Given the description of an element on the screen output the (x, y) to click on. 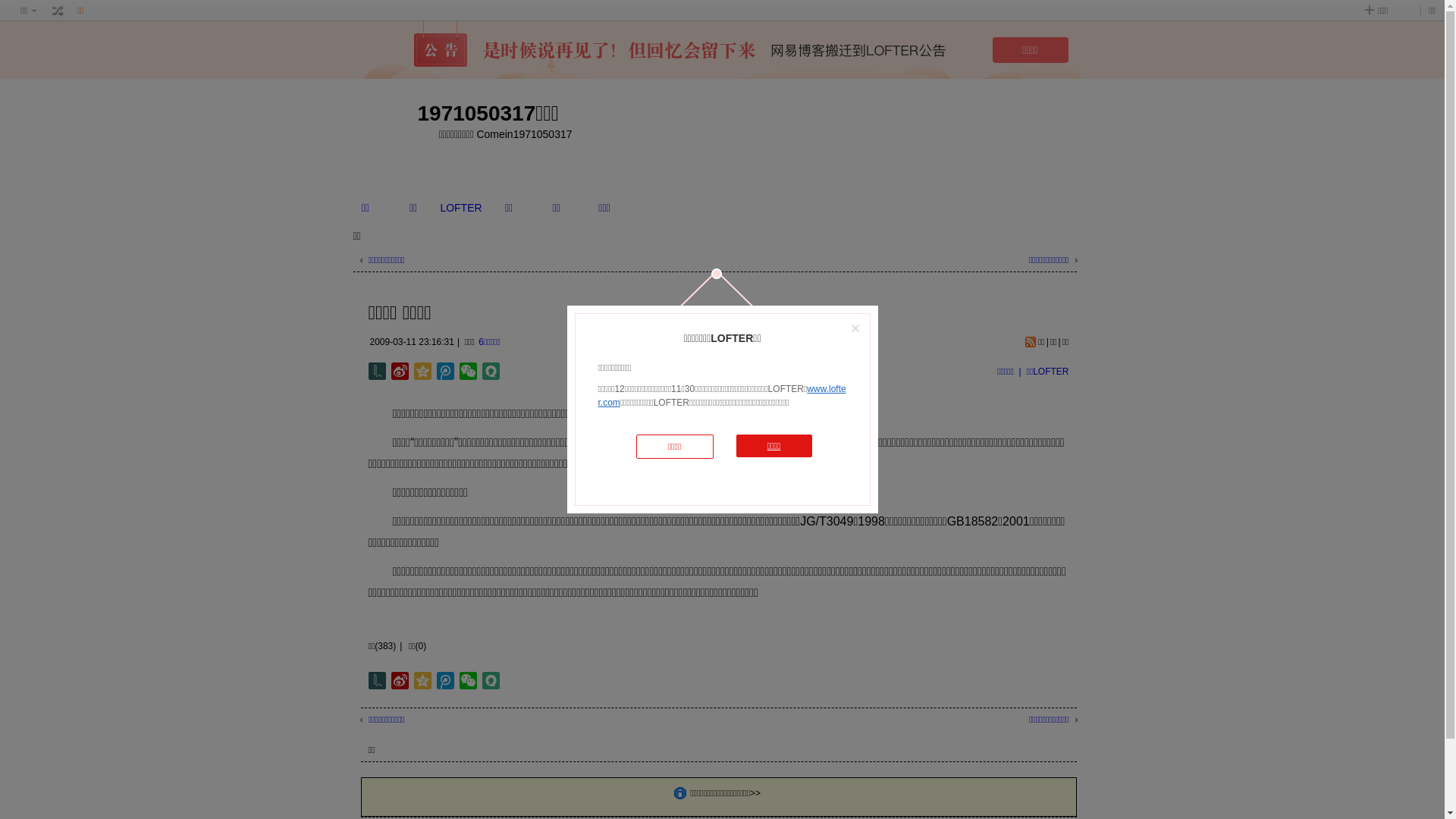
www.lofter.com Element type: text (721, 395)
  Element type: text (58, 10)
LOFTER Element type: text (460, 207)
